Given the description of an element on the screen output the (x, y) to click on. 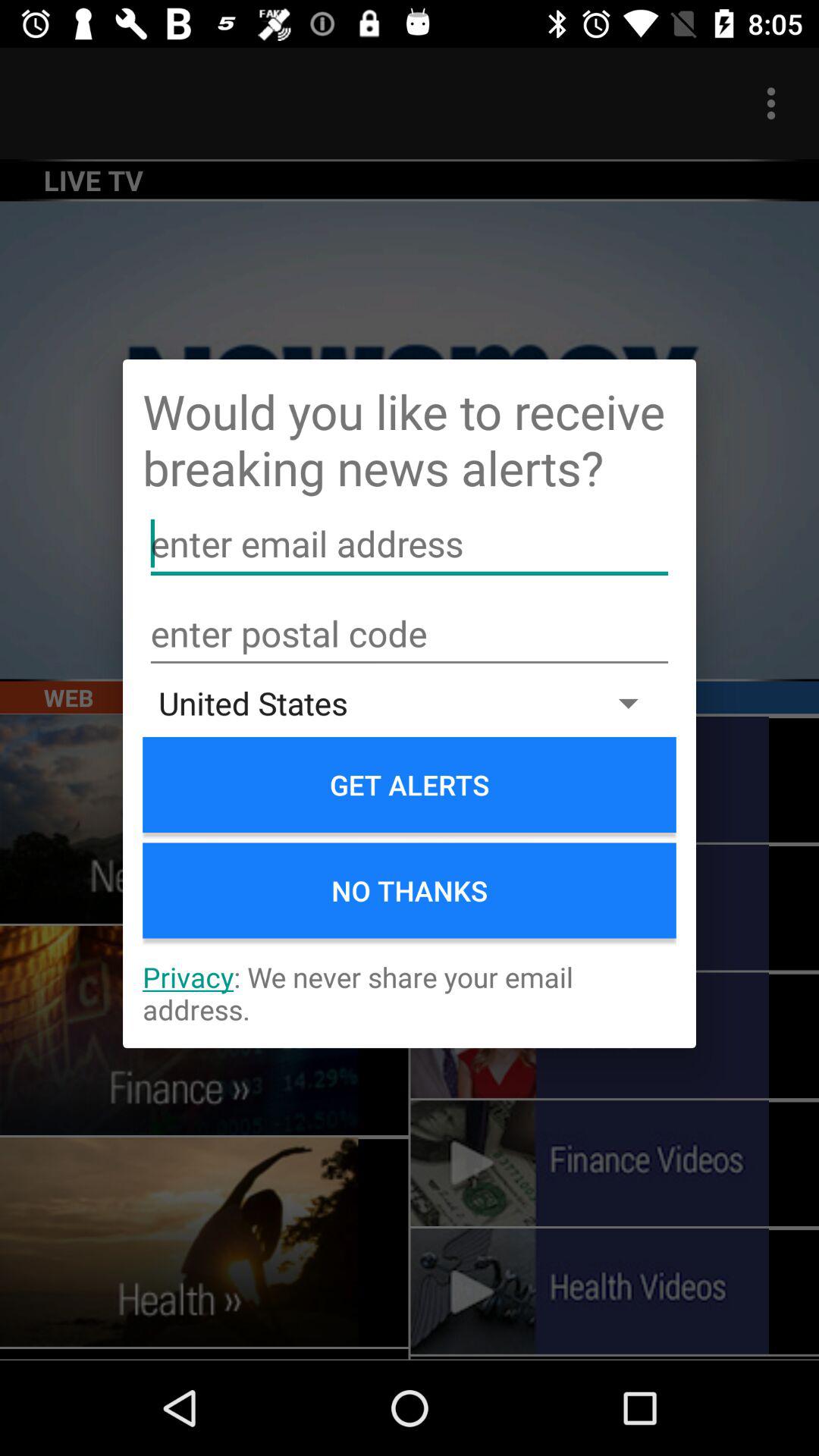
enter email (409, 544)
